Given the description of an element on the screen output the (x, y) to click on. 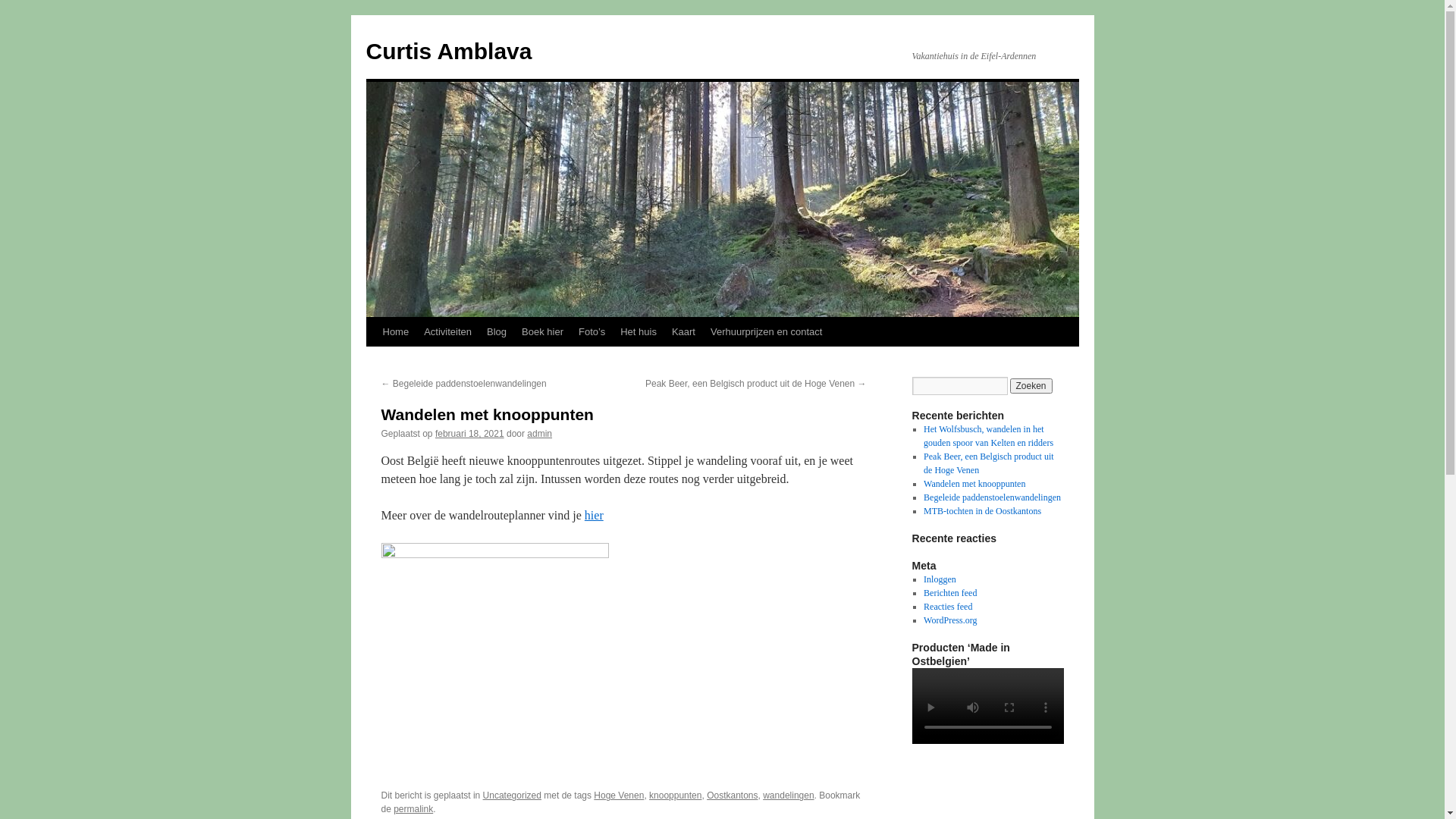
hier Element type: text (593, 514)
Peak Beer, een Belgisch product uit de Hoge Venen Element type: text (988, 463)
MTB-tochten in de Oostkantons Element type: text (982, 510)
knooppunten Element type: text (675, 795)
Begeleide paddenstoelenwandelingen Element type: text (991, 497)
Oostkantons Element type: text (731, 795)
wandelingen Element type: text (787, 795)
Kaart Element type: text (683, 331)
Blog Element type: text (496, 331)
WordPress.org Element type: text (949, 620)
Verhuurprijzen en contact Element type: text (765, 331)
Uncategorized Element type: text (512, 795)
Berichten feed Element type: text (949, 592)
Inloggen Element type: text (939, 579)
Zoeken Element type: text (1031, 385)
admin Element type: text (539, 433)
Spring naar inhoud Element type: text (372, 359)
Hoge Venen Element type: text (618, 795)
Activiteiten Element type: text (447, 331)
permalink Element type: text (413, 808)
Het huis Element type: text (638, 331)
Wandelen met knooppunten Element type: text (974, 483)
Reacties feed Element type: text (947, 606)
Boek hier Element type: text (542, 331)
Home Element type: text (395, 331)
Curtis Amblava Element type: text (448, 50)
februari 18, 2021 Element type: text (469, 433)
